Given the description of an element on the screen output the (x, y) to click on. 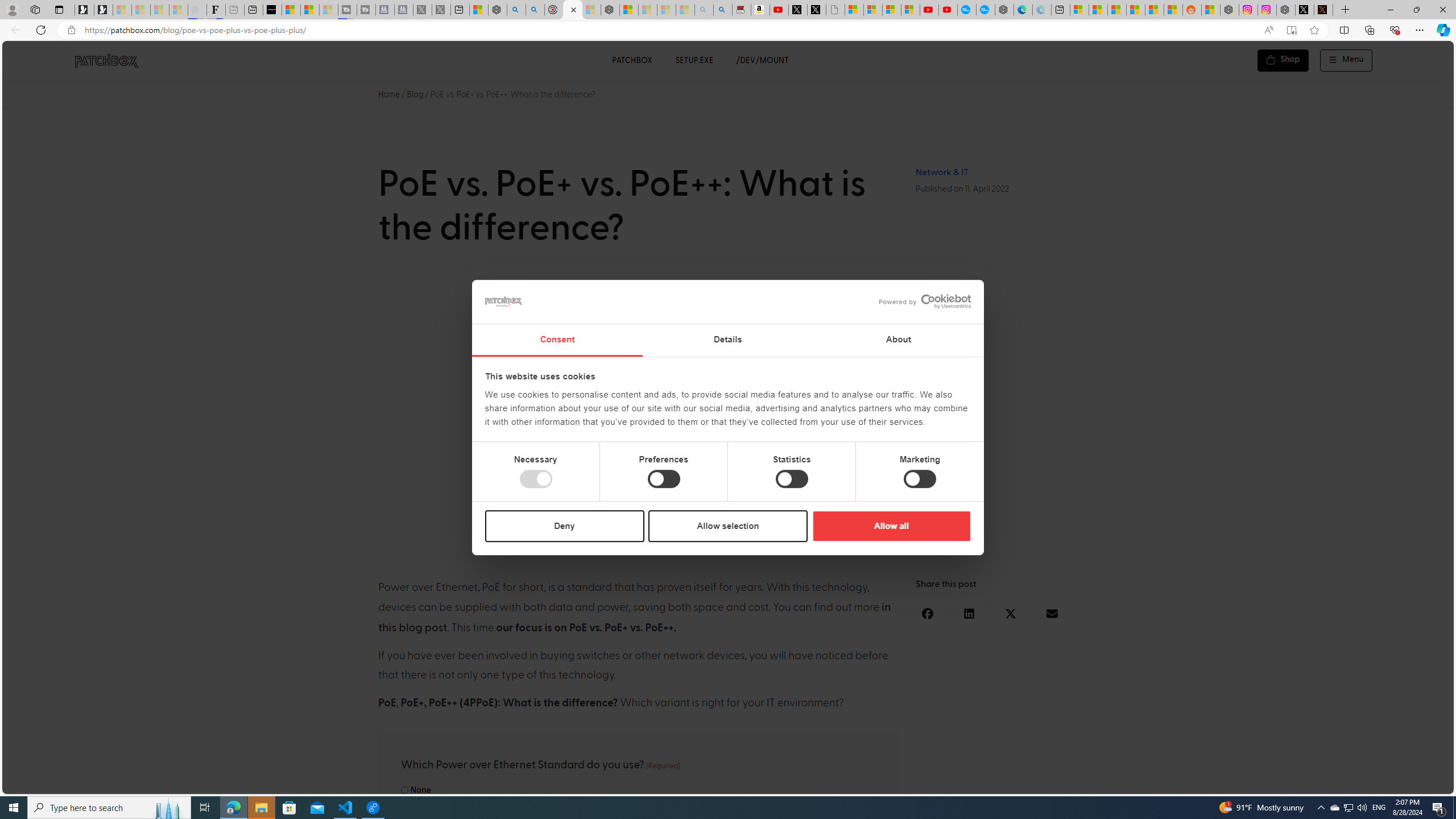
Share on x-twitter (1010, 613)
Nordace (@NordaceOfficial) / X (1304, 9)
in this blog post (634, 617)
Nordace - Nordace Siena Is Not An Ordinary Backpack (609, 9)
Details (727, 340)
